Given the description of an element on the screen output the (x, y) to click on. 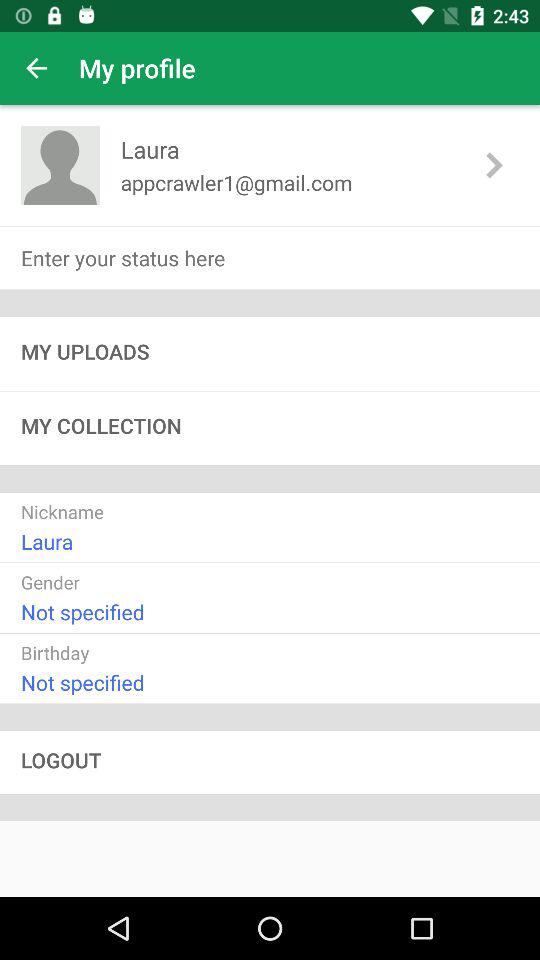
click the item next to laura item (60, 164)
